Given the description of an element on the screen output the (x, y) to click on. 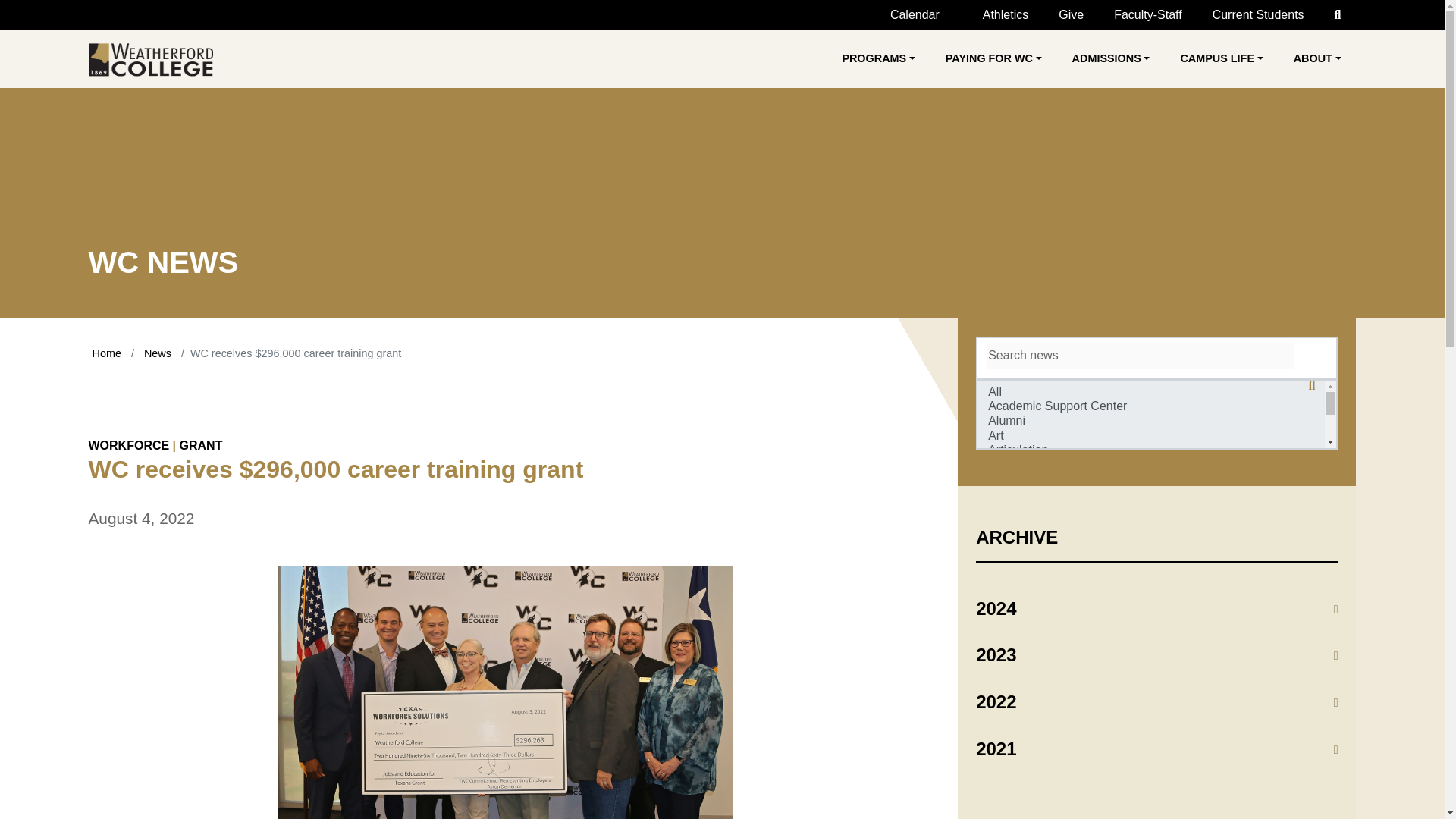
ABOUT (1317, 59)
ADMISSIONS (1110, 59)
     Calendar (906, 14)
    Athletics (999, 14)
PROGRAMS (877, 59)
PAYING FOR WC (993, 59)
Current Students (1257, 14)
Give (1071, 14)
